Given the description of an element on the screen output the (x, y) to click on. 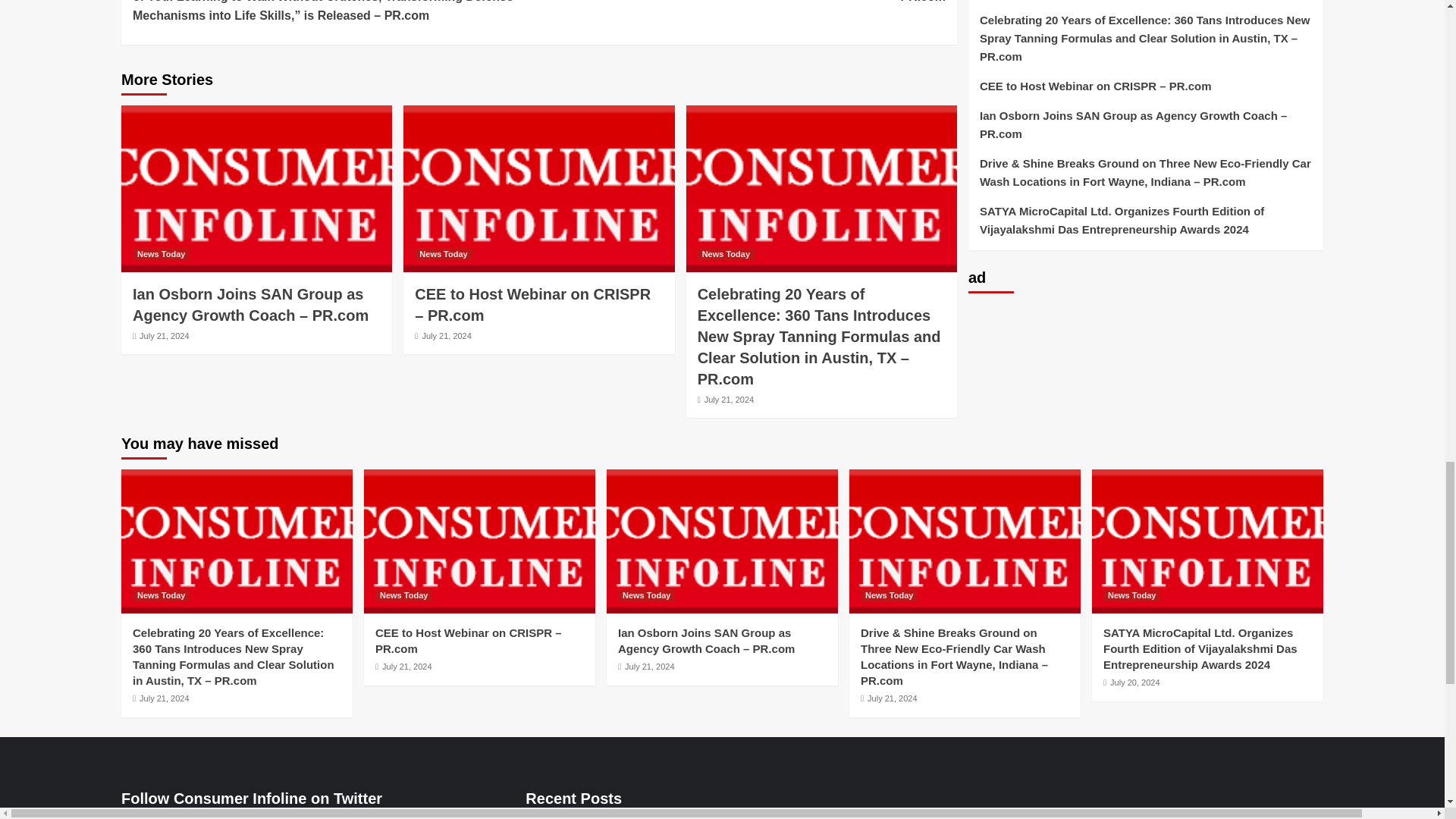
Ian Osborn Joins SAN Group as Agency Growth Coach - PR.com 3 (255, 188)
CEE to Host Webinar on CRISPR - PR.com 11 (479, 541)
CEE to Host Webinar on CRISPR - PR.com 5 (538, 188)
News Today (160, 254)
